Given the description of an element on the screen output the (x, y) to click on. 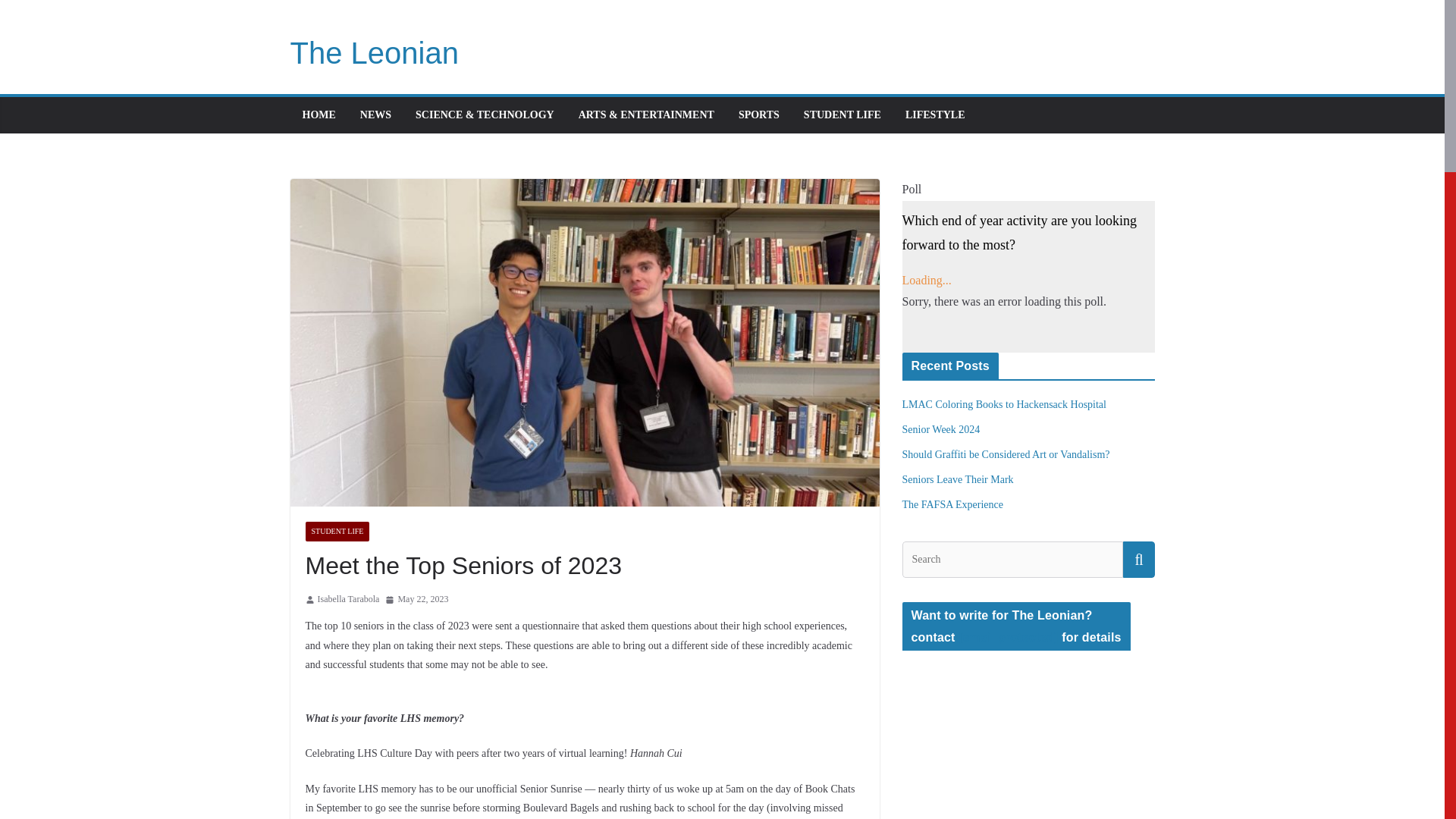
Isabella Tarabola (347, 599)
LIFESTYLE (935, 115)
LMAC Coloring Books to Hackensack Hospital (1004, 404)
The Leonian (373, 52)
The FAFSA Experience (953, 504)
Seniors Leave Their Mark (957, 479)
12:53 pm (416, 599)
STUDENT LIFE (841, 115)
Senior Week 2024 (940, 429)
May 22, 2023 (416, 599)
